Given the description of an element on the screen output the (x, y) to click on. 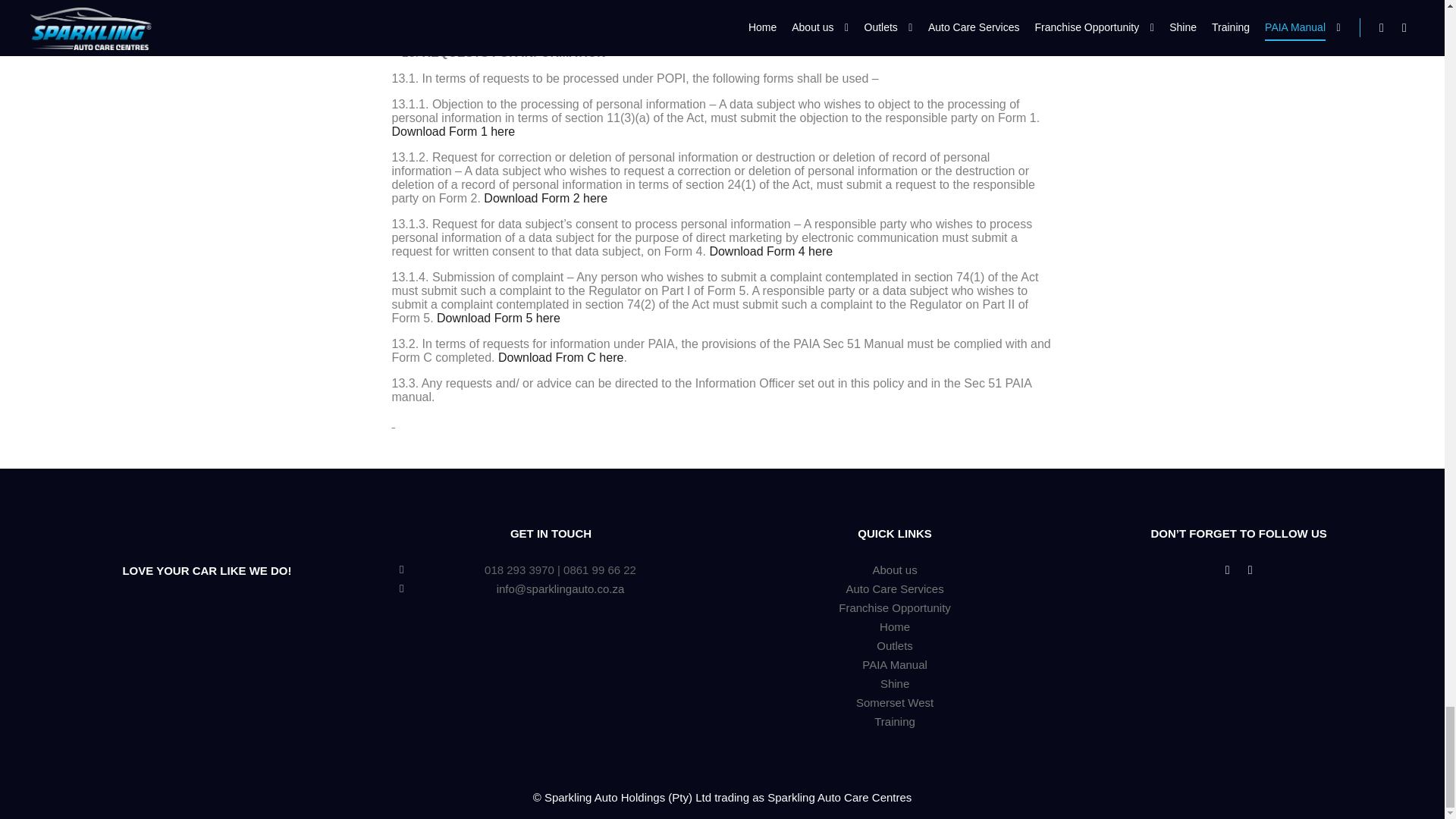
Download Form 2 here (545, 197)
Download Form 5 here (498, 318)
Download Form 1 here (453, 131)
Instagram (1250, 569)
Download Form 4 here (770, 250)
Facebook (1227, 569)
